Given the description of an element on the screen output the (x, y) to click on. 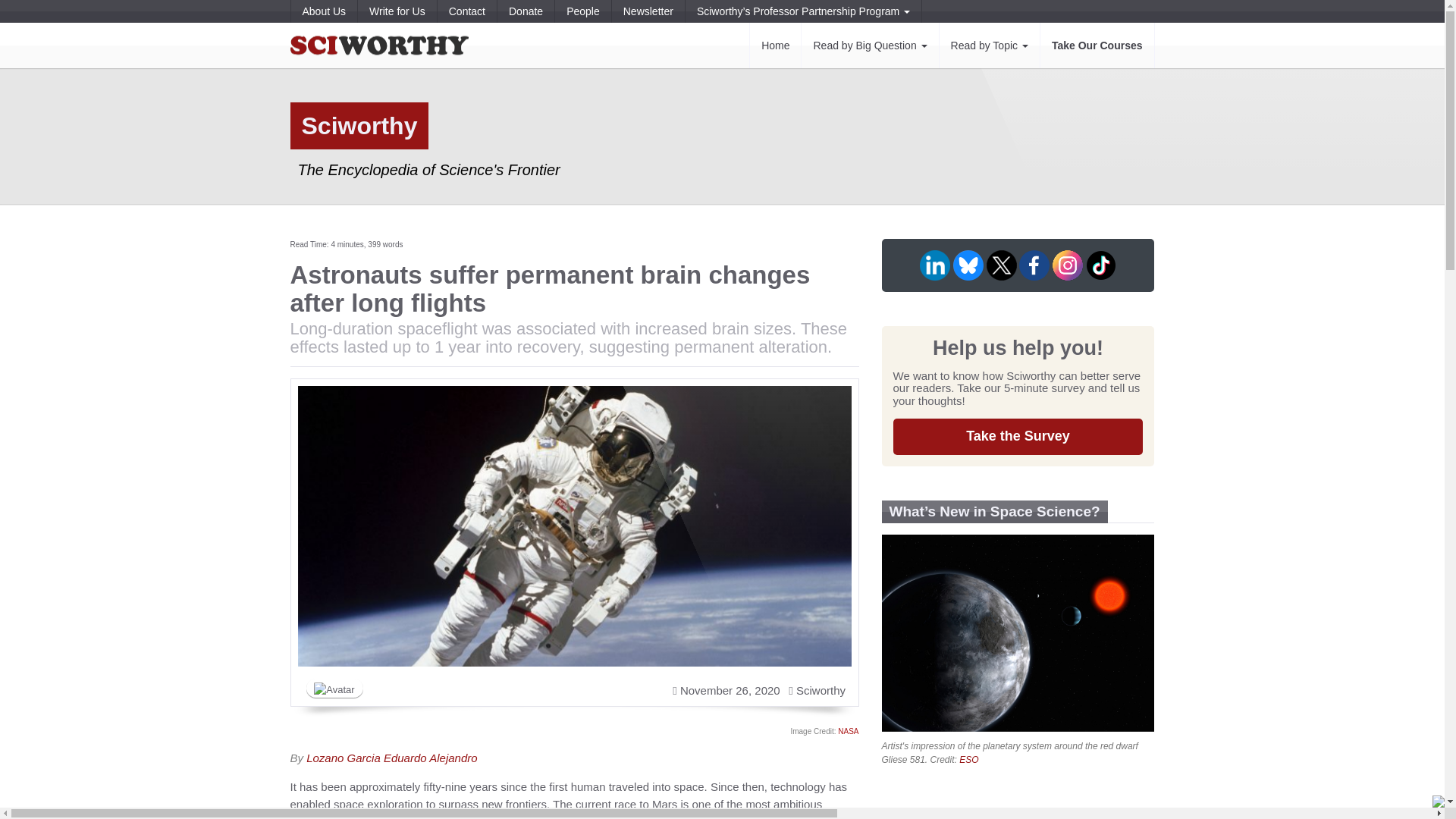
Donate (525, 11)
Contact (466, 11)
People (582, 11)
Donate (525, 11)
About Us (323, 11)
People (582, 11)
Write for Us (397, 11)
Newsletter (648, 11)
Sciworthy (378, 44)
Read by Big Question (869, 44)
Home (775, 44)
About Us (323, 11)
Write for Us (397, 11)
Contact (466, 11)
